Given the description of an element on the screen output the (x, y) to click on. 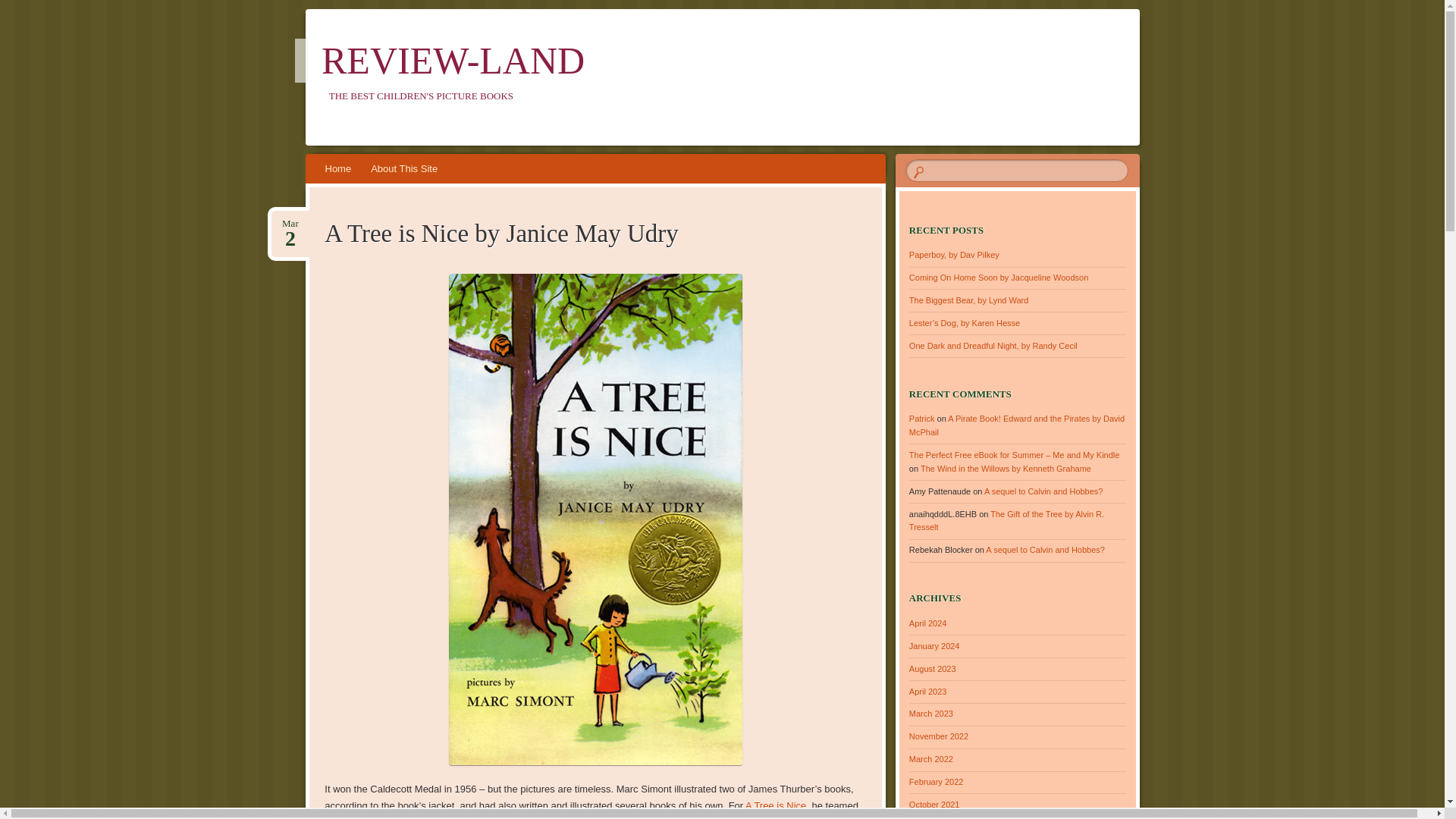
Search (21, 7)
October 2021 (933, 804)
April 2024 (927, 623)
A Tree is Nice, (777, 805)
The Wind in the Willows by Kenneth Grahame (1005, 468)
REVIEW-LAND (453, 60)
March 2022 (930, 758)
A Pirate Book! Edward and the Pirates by David McPhail (1016, 425)
Paperboy, by Dav Pilkey (953, 254)
March 2, 2017 (289, 223)
A sequel to Calvin and Hobbes? (289, 223)
March 2023 (1043, 491)
The Biggest Bear, by Lynd Ward (930, 713)
One Dark and Dreadful Night, by Randy Cecil (968, 299)
